Given the description of an element on the screen output the (x, y) to click on. 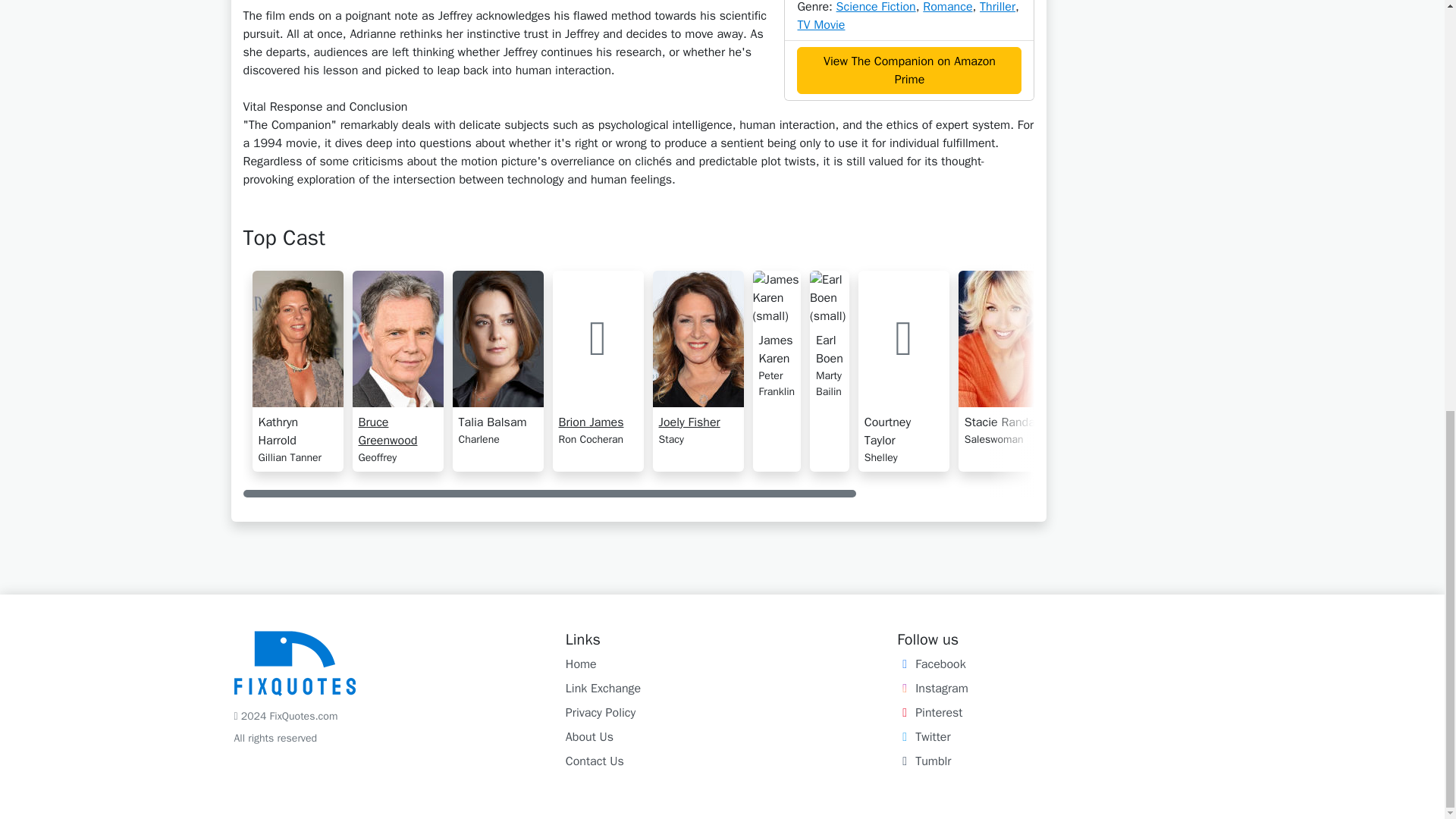
About Us (589, 736)
Romance (947, 7)
Privacy Policy (600, 712)
Thriller (996, 7)
Pinterest (929, 712)
Tumblr (923, 761)
Science Fiction (875, 7)
Facebook (930, 663)
Link Exchange (603, 688)
View The Companion on Amazon Prime (909, 70)
Instagram (932, 688)
Twitter (923, 736)
Home (581, 663)
